Given the description of an element on the screen output the (x, y) to click on. 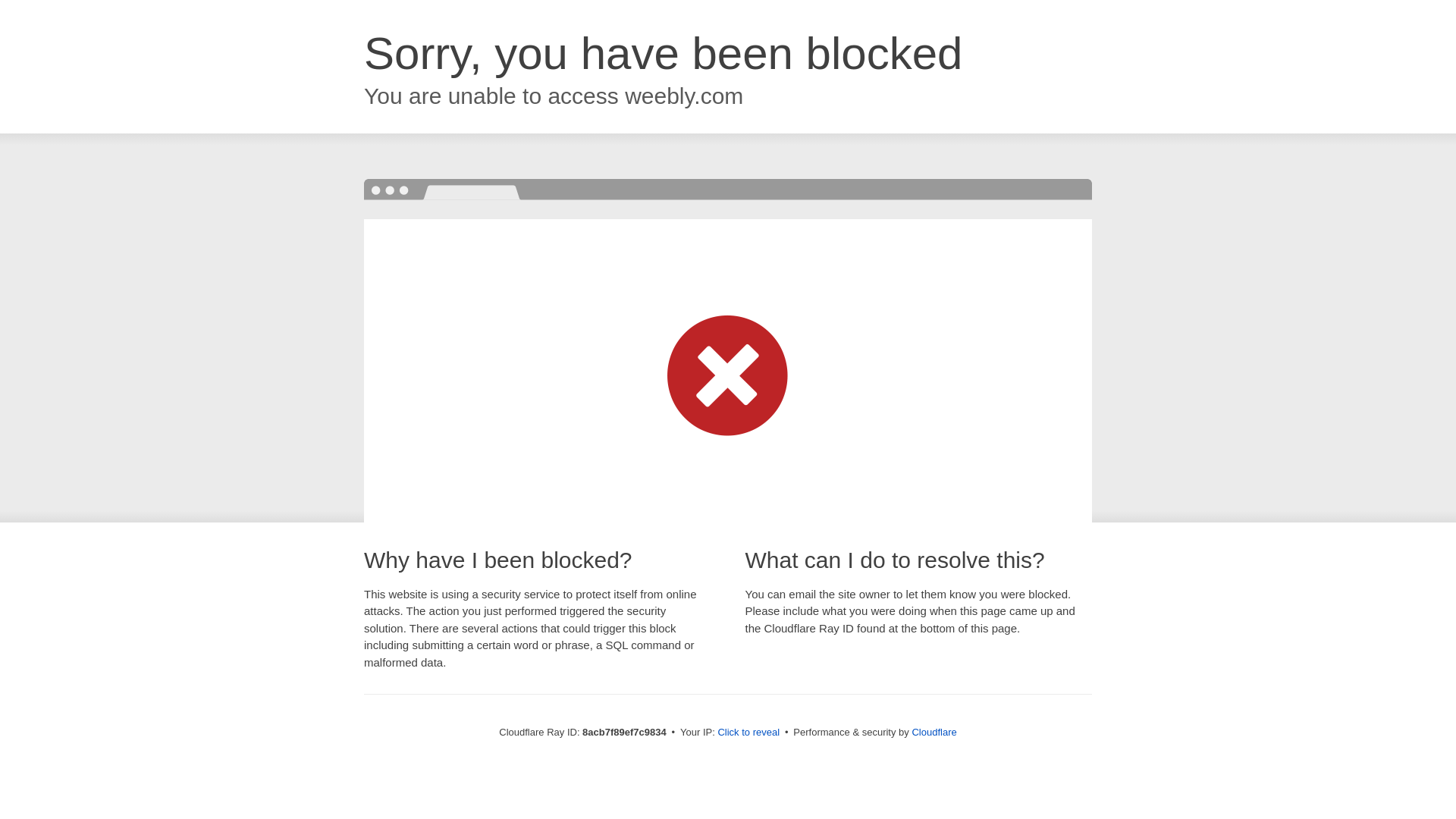
Click to reveal (747, 732)
Cloudflare (933, 731)
